Given the description of an element on the screen output the (x, y) to click on. 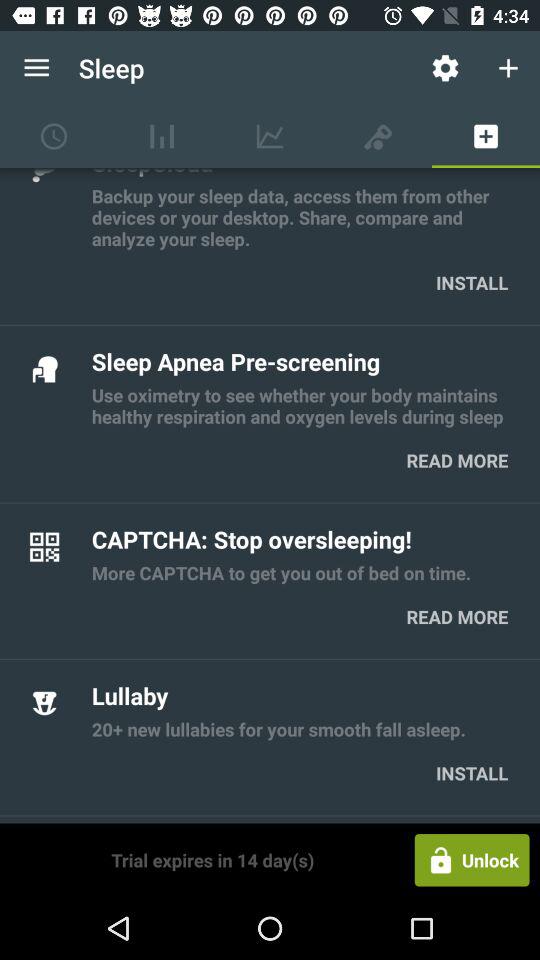
icon to the left of sleep apnea prescreening (44, 368)
select the timer icon tab on the web page (53, 135)
the third icon in the row shown below sleep (269, 135)
the settings icon shown right to sleep at the top of the page (445, 68)
select install positioned at the bottom right corner of the page (472, 773)
the text install shown in the first field (472, 281)
